Given the description of an element on the screen output the (x, y) to click on. 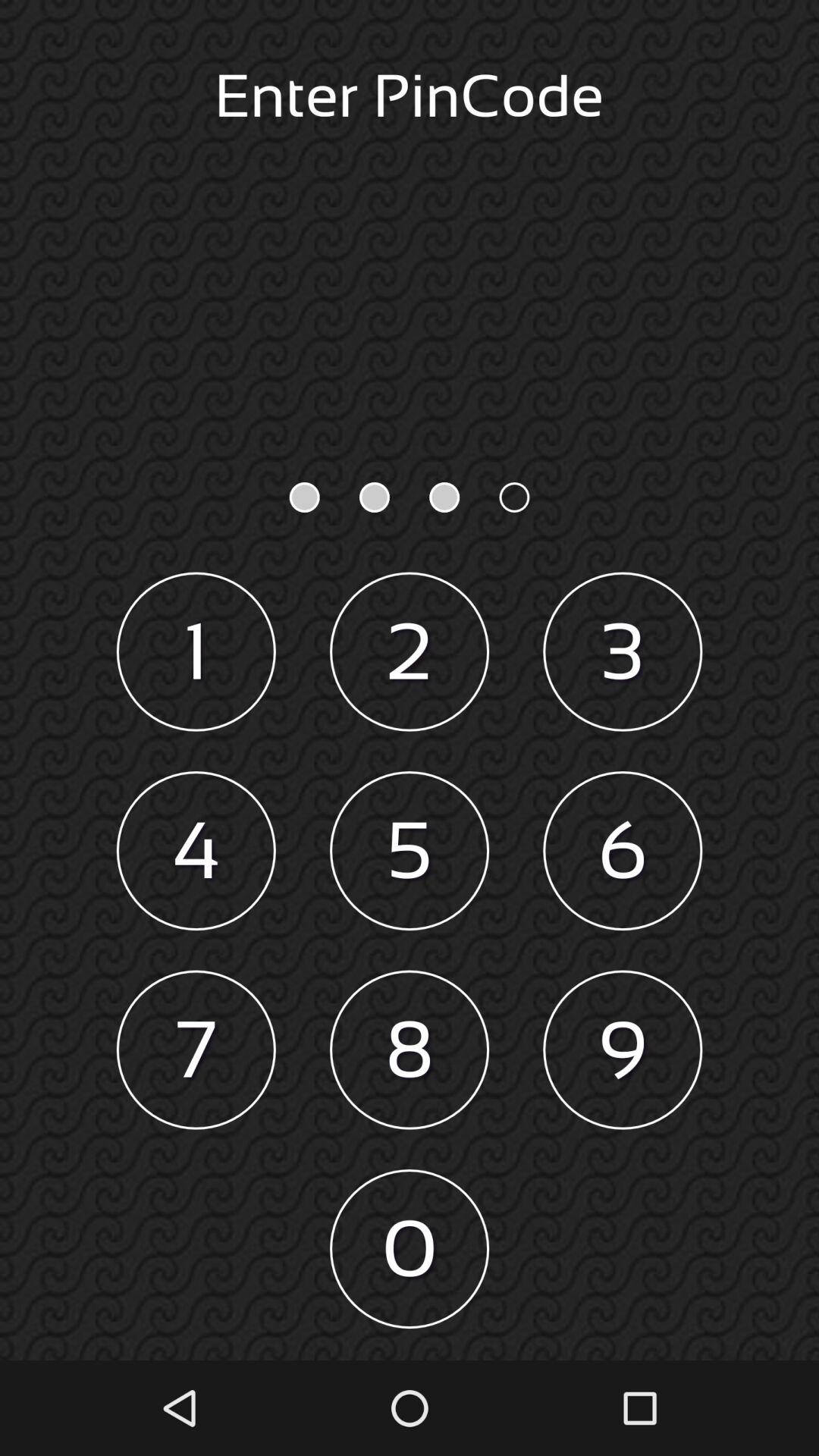
turn on item next to the 4 icon (409, 850)
